Given the description of an element on the screen output the (x, y) to click on. 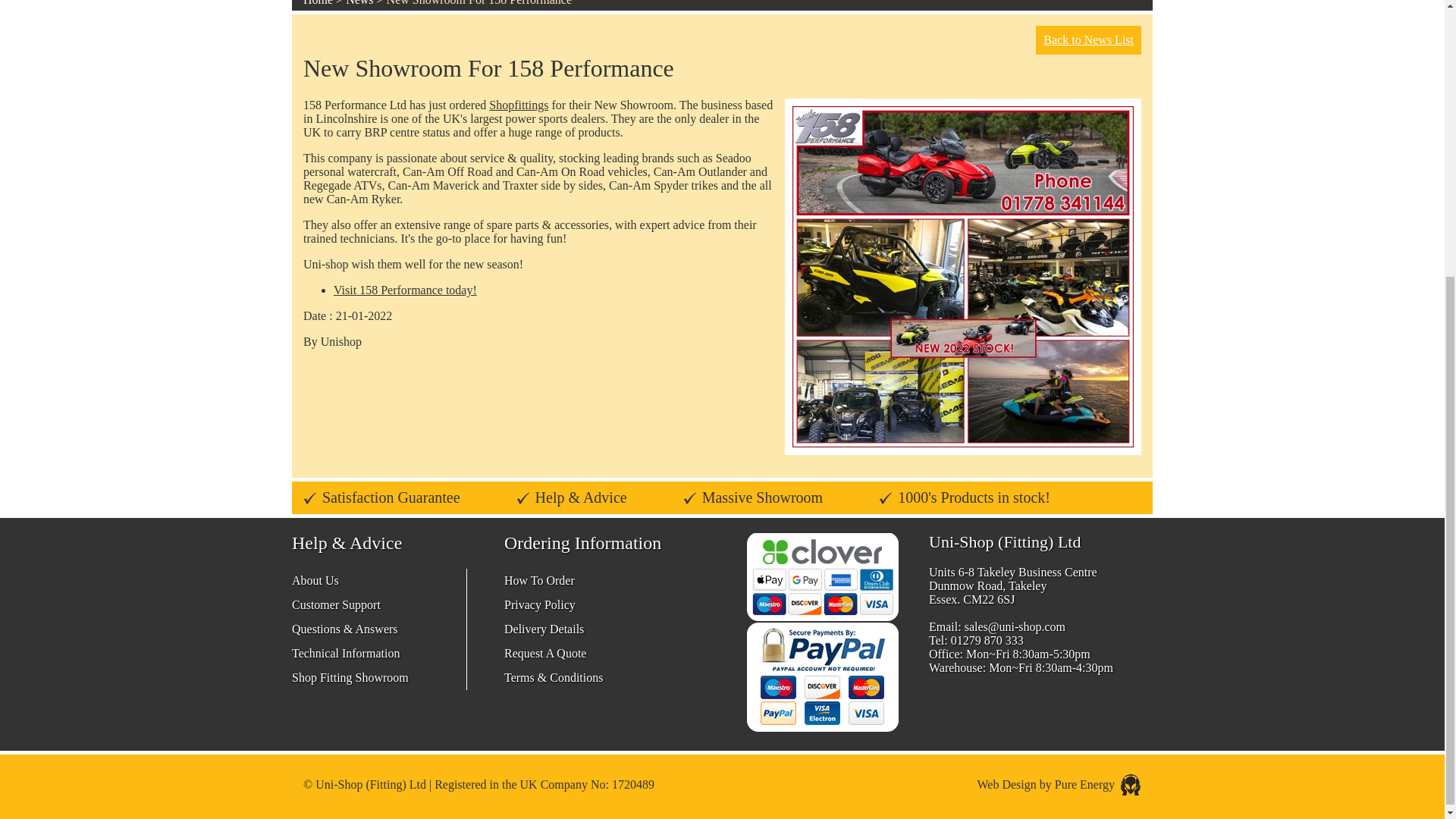
About Us (315, 580)
How To Order (539, 580)
Shopfittings (518, 104)
News (359, 2)
Technical Information (345, 653)
View All Our Shopfittings! (518, 104)
Delivery Details (543, 628)
Shop Fitting Showroom (350, 676)
Back to News List (1088, 39)
Visit 158 Performance today! (405, 289)
Privacy Policy (539, 604)
Request A Quote (544, 653)
Customer Support (336, 604)
Visit 158 Performance today! (405, 289)
Home (317, 2)
